Given the description of an element on the screen output the (x, y) to click on. 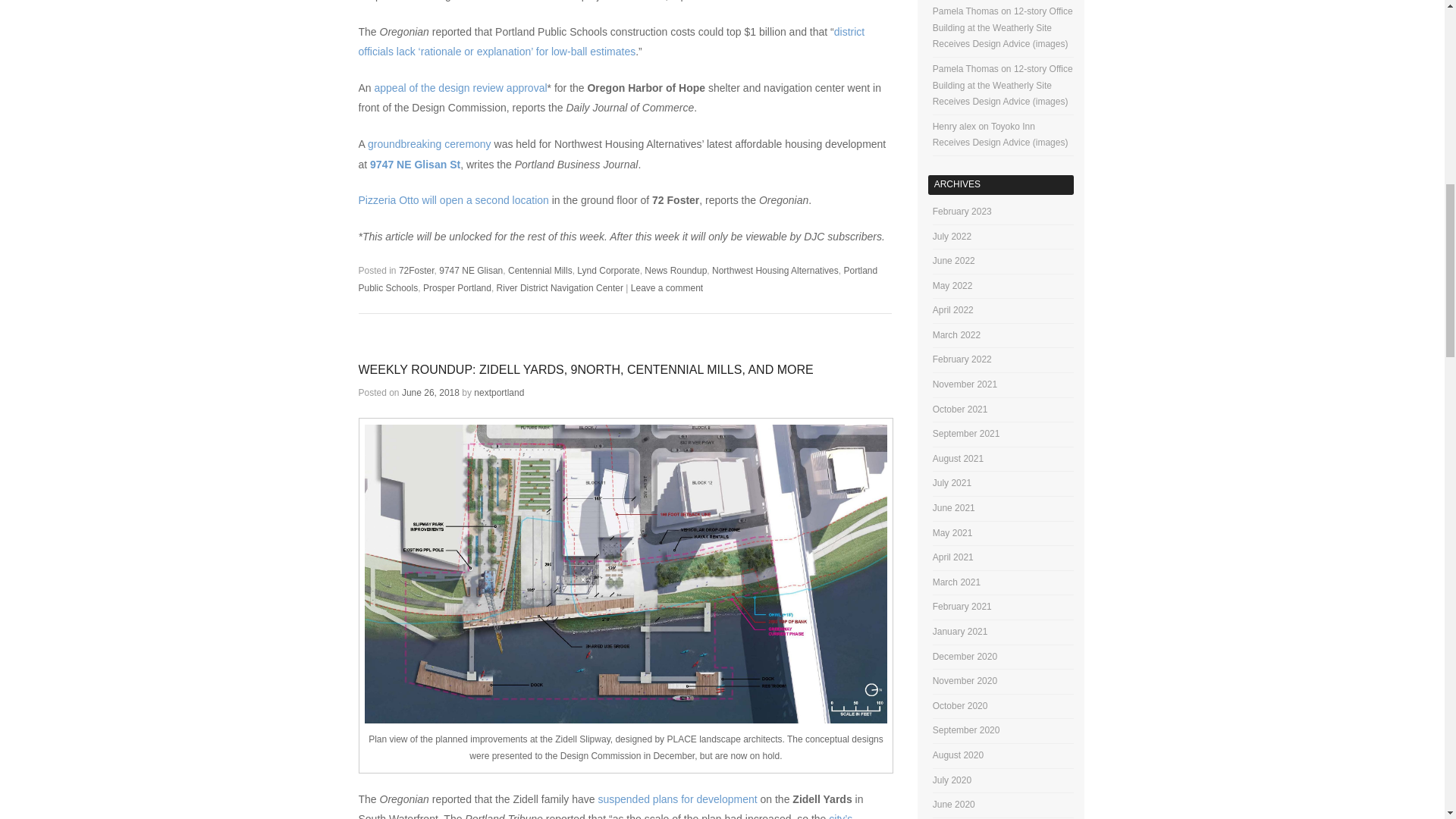
News Roundup (675, 270)
Lynd Corporate (607, 270)
appeal of the design review approval (460, 87)
9747 NE Glisan St (414, 164)
Northwest Housing Alternatives (774, 270)
6:02 pm (430, 392)
June 26, 2018 (430, 392)
suspended plans for development (676, 799)
Leave a comment (666, 287)
